Given the description of an element on the screen output the (x, y) to click on. 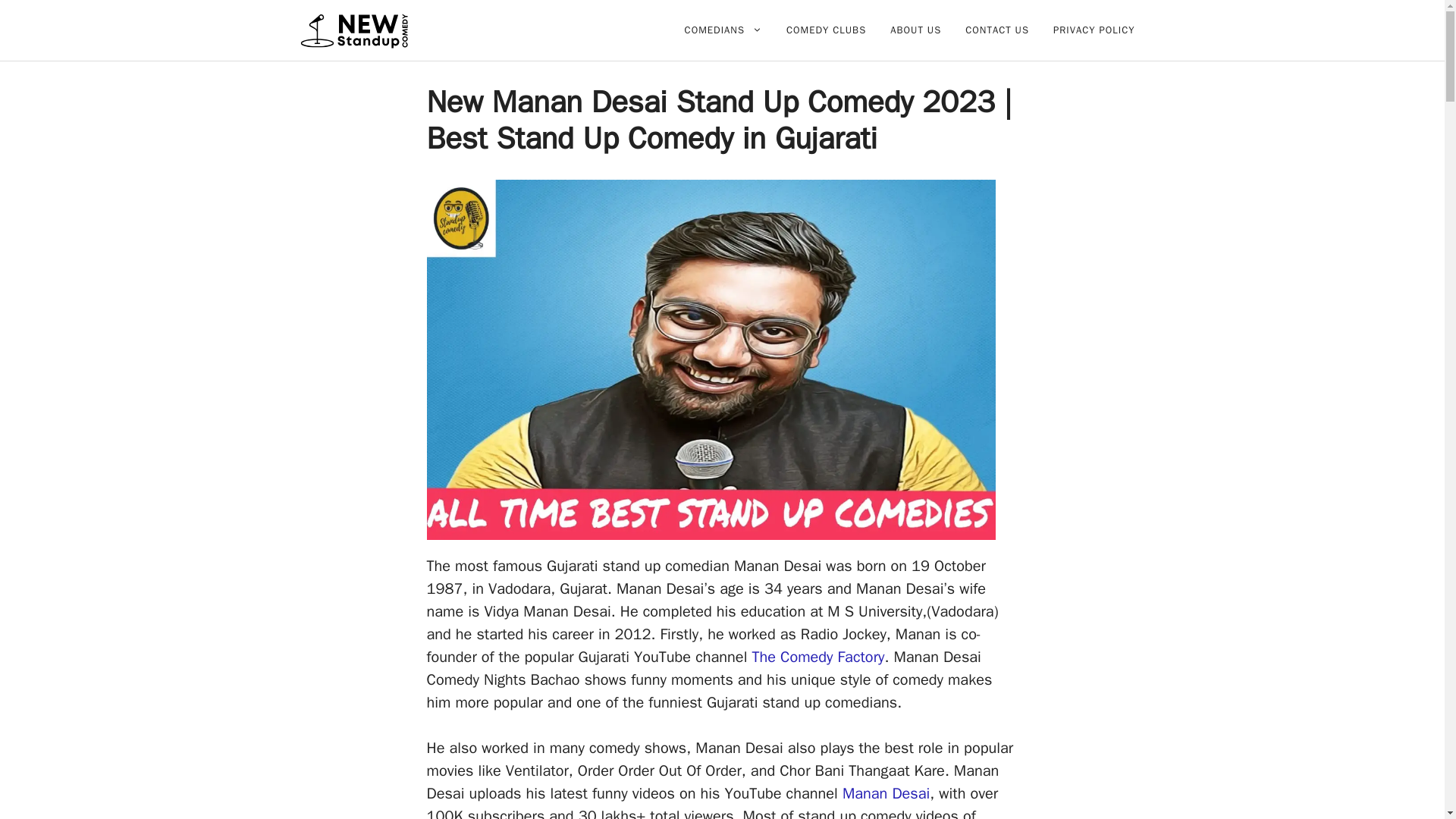
PRIVACY POLICY (1094, 30)
Manan Desai (886, 793)
CONTACT US (997, 30)
COMEDY CLUBS (825, 30)
ABOUT US (915, 30)
The Comedy Factory (817, 656)
COMEDIANS (723, 30)
